Given the description of an element on the screen output the (x, y) to click on. 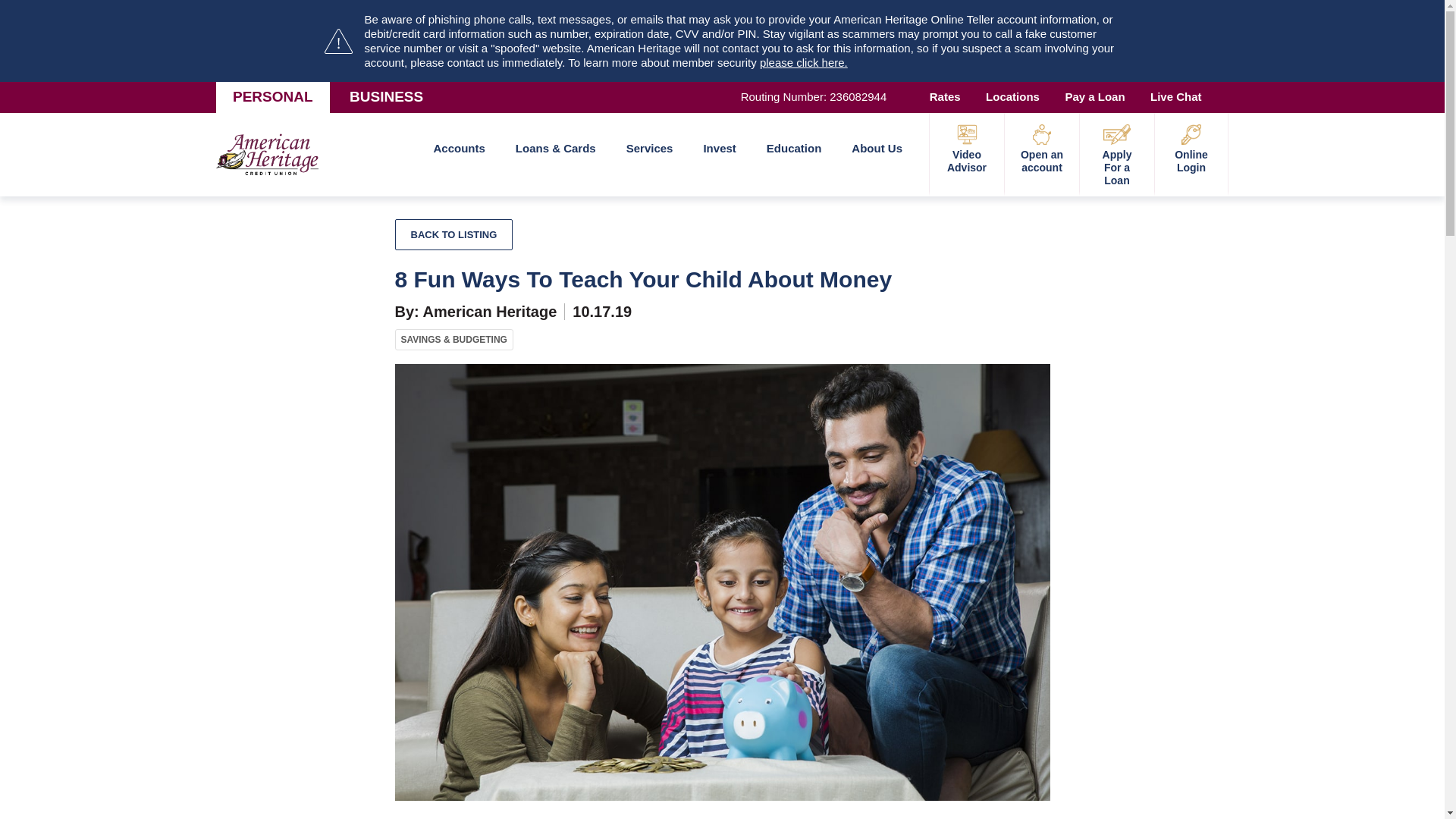
Personal-tab (272, 97)
Rates (945, 97)
Business-tab (386, 97)
Locations (1012, 97)
please click here. (803, 62)
